Given the description of an element on the screen output the (x, y) to click on. 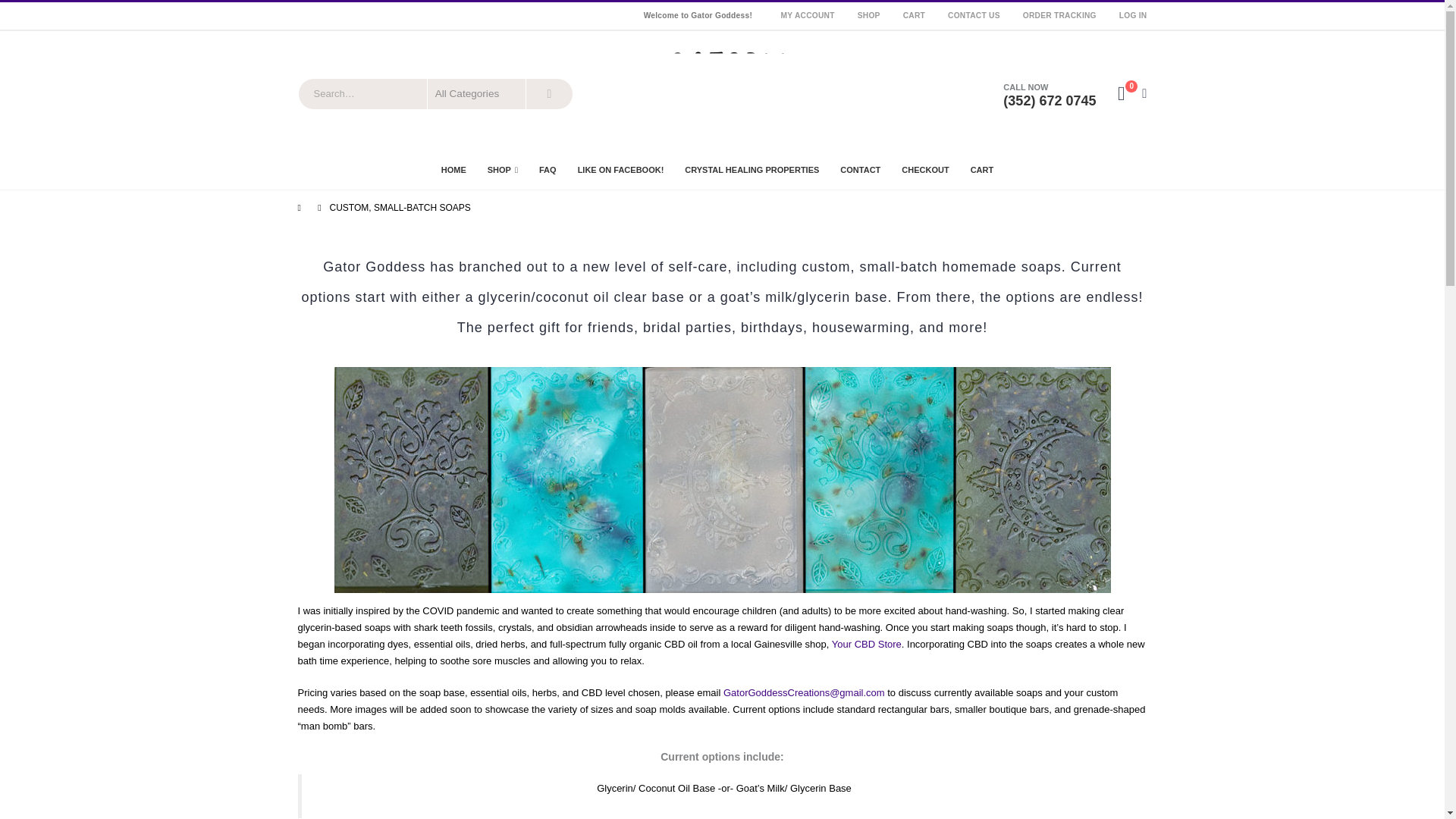
ORDER TRACKING (1059, 15)
SHOP (868, 15)
HOME (458, 169)
FAQ (547, 169)
CONTACT US (973, 15)
CART (913, 15)
